Given the description of an element on the screen output the (x, y) to click on. 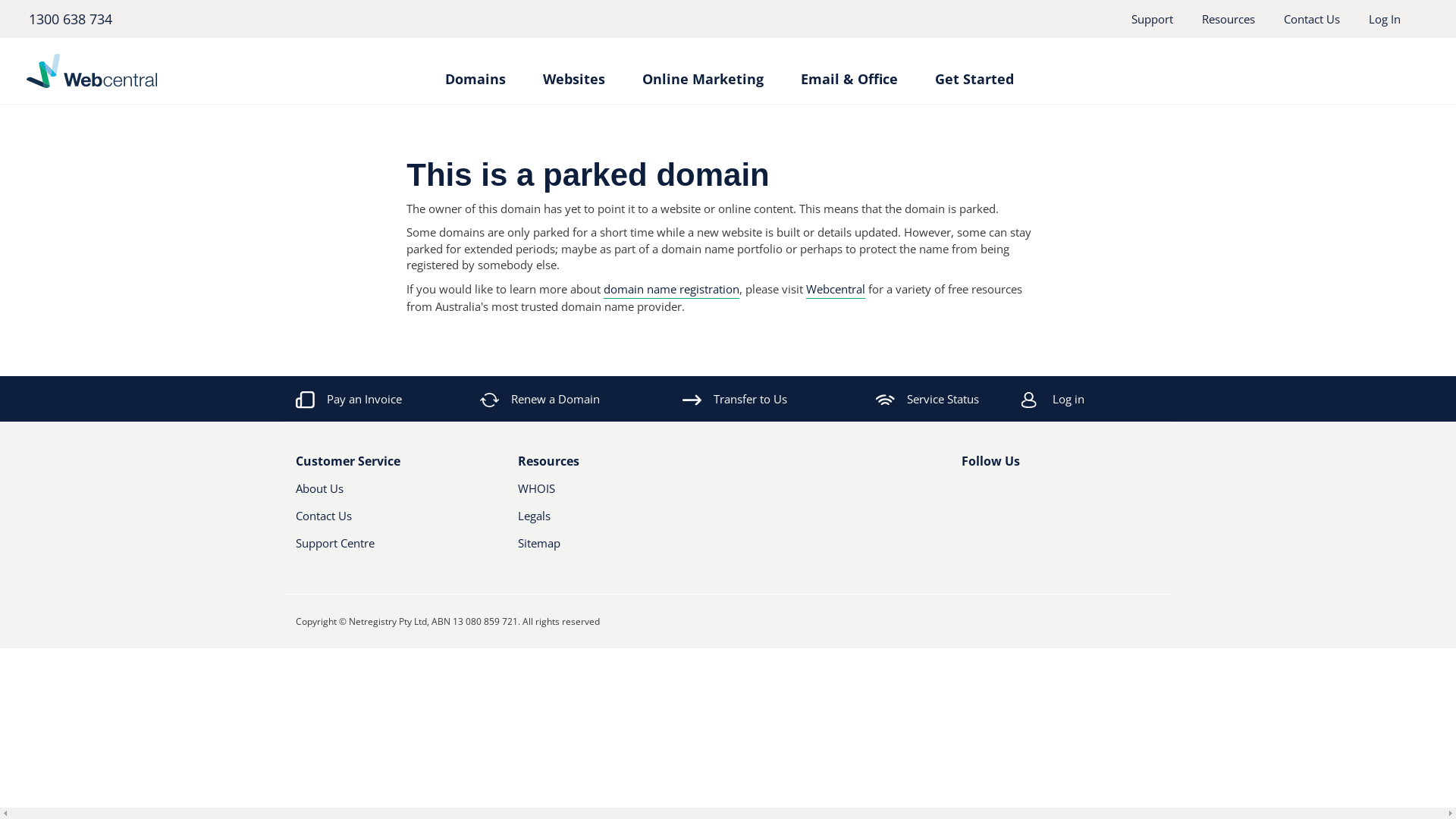
Legals Element type: text (601, 521)
1300 638 734 Element type: text (69, 18)
Domains Element type: text (474, 71)
Support Centre Element type: text (395, 548)
Twitter Element type: hover (993, 494)
Websites Element type: text (573, 71)
Youtube Element type: hover (1019, 494)
Service Status Element type: text (927, 398)
domain name registration Element type: text (671, 289)
Log in Element type: text (1111, 398)
Sitemap Element type: text (616, 548)
Log In Element type: text (1384, 18)
Renew a Domain Element type: text (540, 398)
Contact Us Element type: text (379, 521)
Support Element type: text (1152, 18)
Facebook Element type: hover (970, 494)
Resources Element type: text (1228, 18)
WHOIS Element type: text (601, 494)
Get Started Element type: text (973, 71)
Email & Office Element type: text (848, 71)
About Us Element type: text (379, 494)
Transfer to Us Element type: text (734, 398)
Webcentral Element type: text (835, 289)
Pay an Invoice Element type: text (348, 398)
Online Marketing Element type: text (701, 71)
Webcentral Element type: hover (163, 70)
Contact Us Element type: text (1311, 18)
RSS Element type: hover (1045, 494)
